Given the description of an element on the screen output the (x, y) to click on. 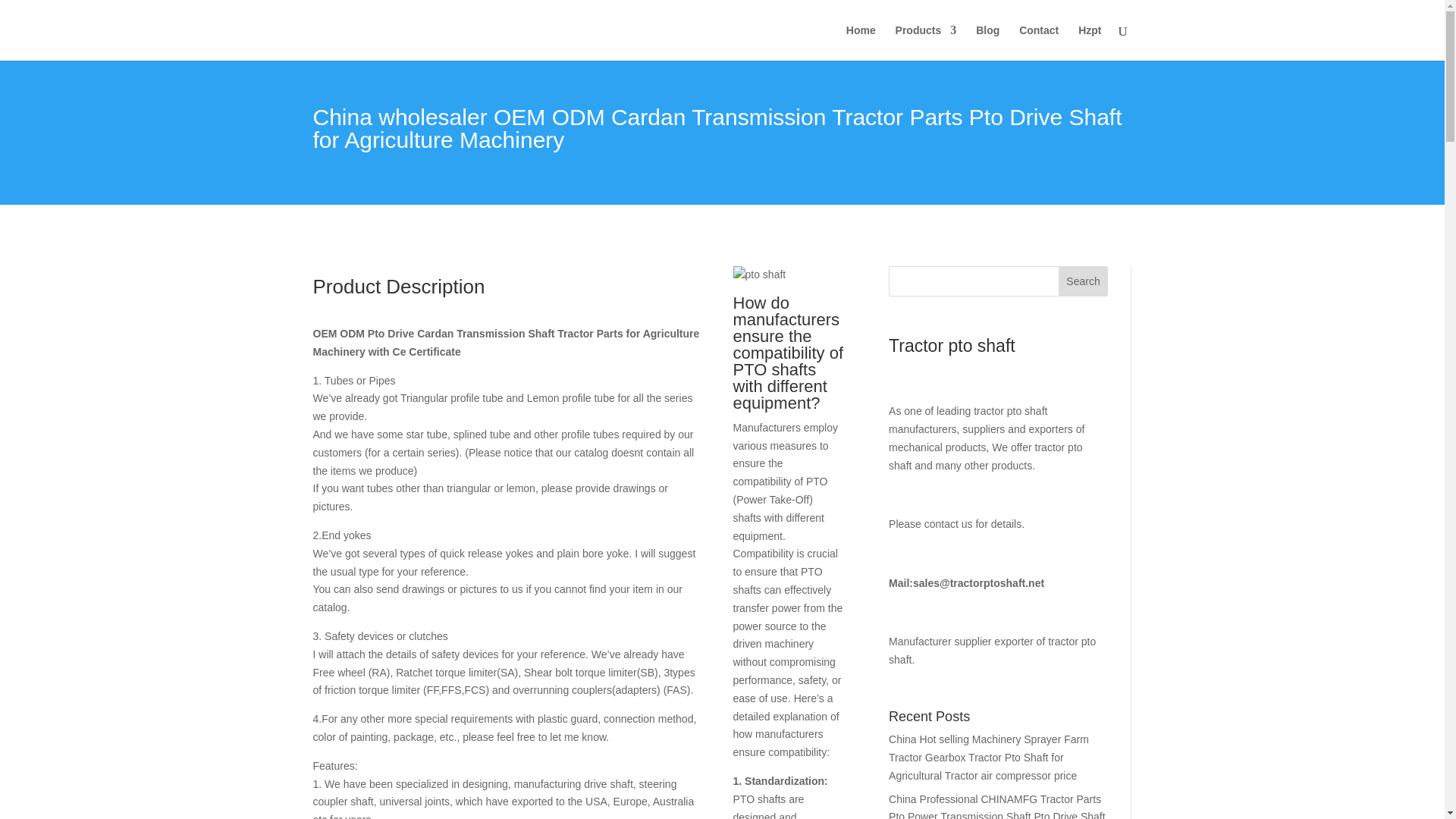
Contact (1038, 42)
Products (925, 42)
Search (1083, 281)
